Given the description of an element on the screen output the (x, y) to click on. 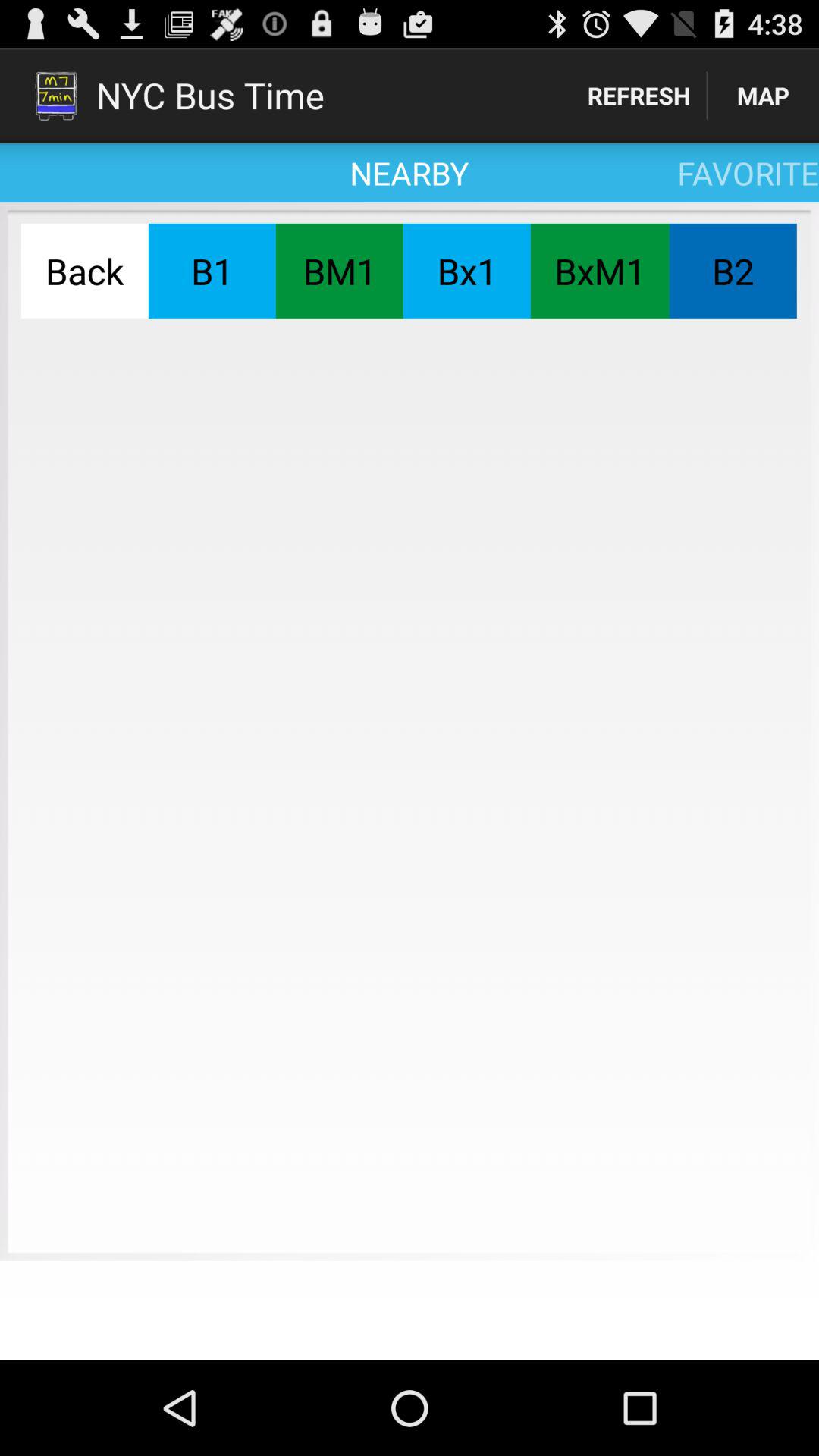
tap icon to the right of the refresh item (763, 95)
